Given the description of an element on the screen output the (x, y) to click on. 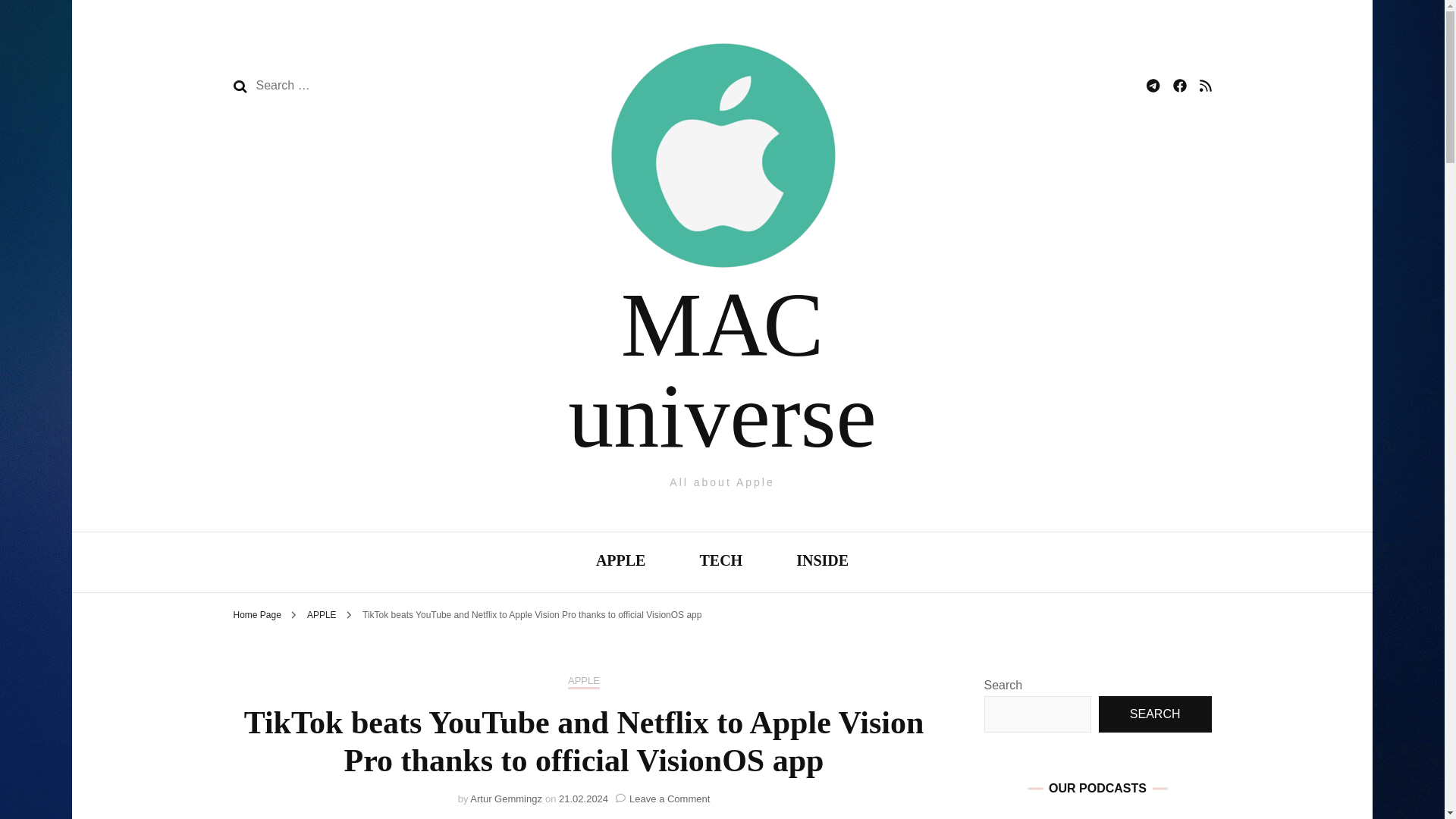
TECH (720, 561)
INSIDE (822, 561)
21.02.2024 (583, 798)
APPLE (583, 681)
Home Page (256, 614)
Search (239, 86)
Artur Gemmingz (505, 798)
Search (239, 86)
APPLE (323, 614)
APPLE (620, 561)
Search (239, 86)
